Given the description of an element on the screen output the (x, y) to click on. 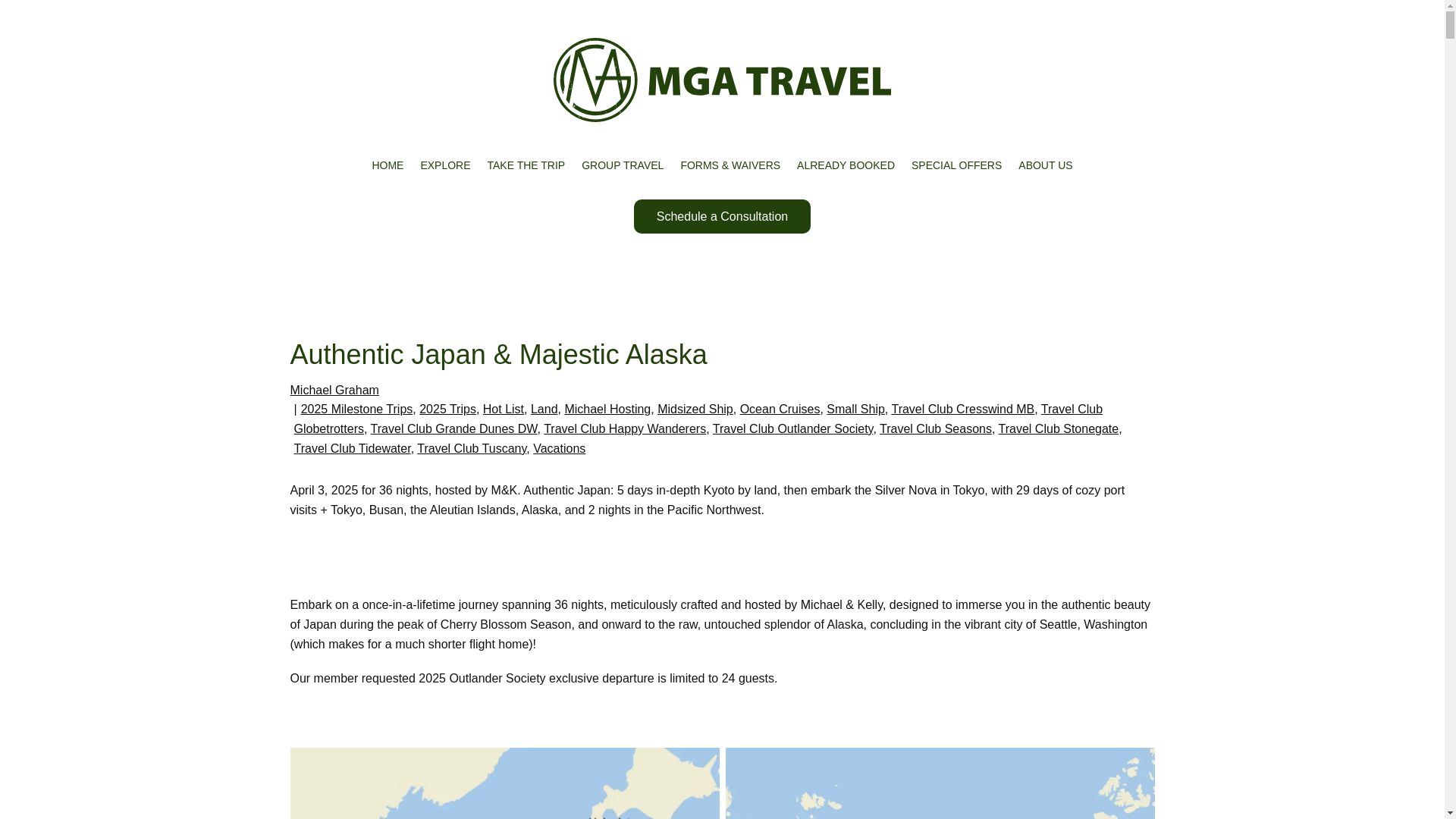
TAKE THE TRIP (526, 164)
View all posts by Michael Graham (333, 390)
EXPLORE (445, 164)
HOME (387, 164)
home (721, 80)
